Given the description of an element on the screen output the (x, y) to click on. 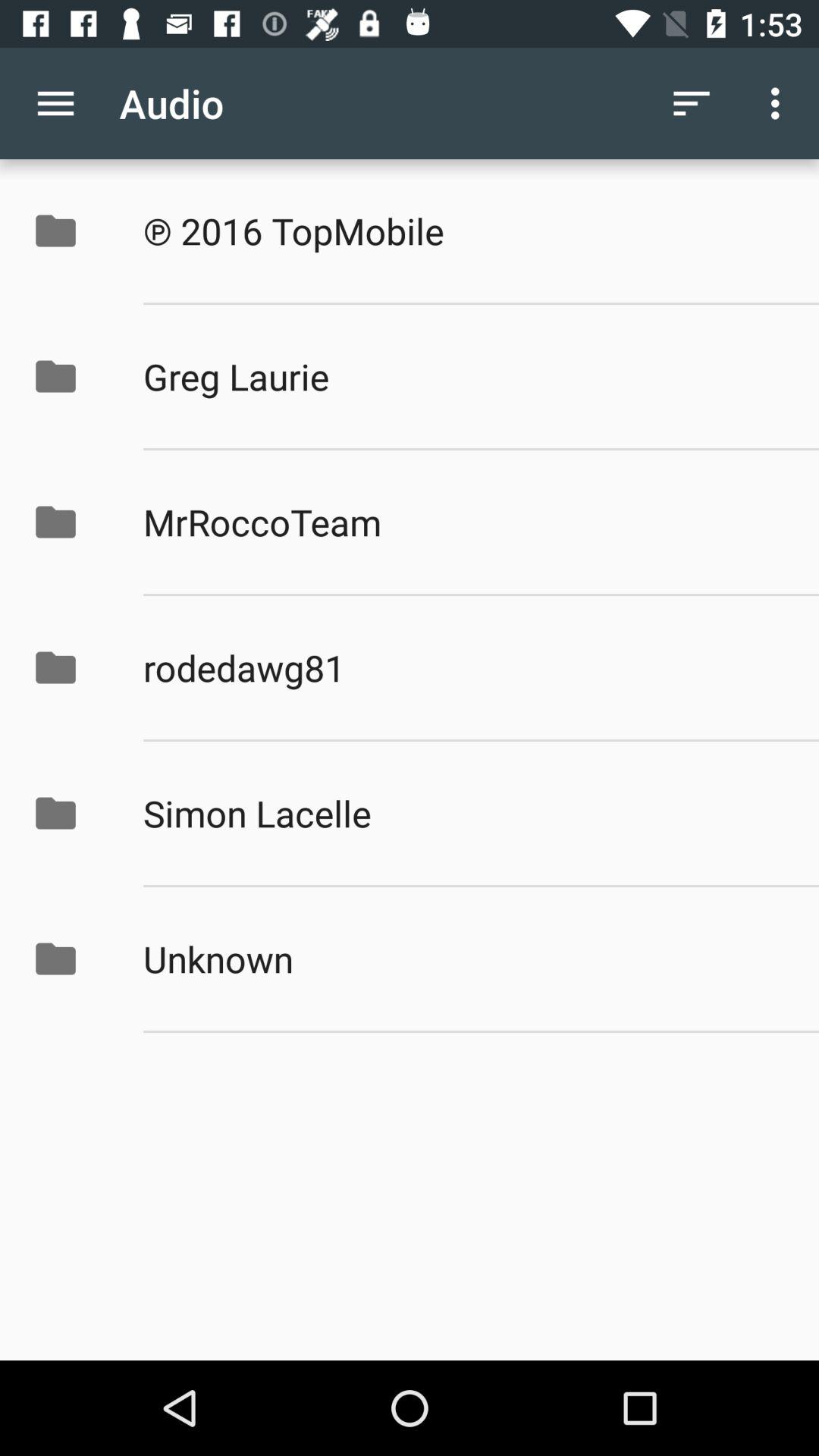
open simon lacelle (465, 812)
